Given the description of an element on the screen output the (x, y) to click on. 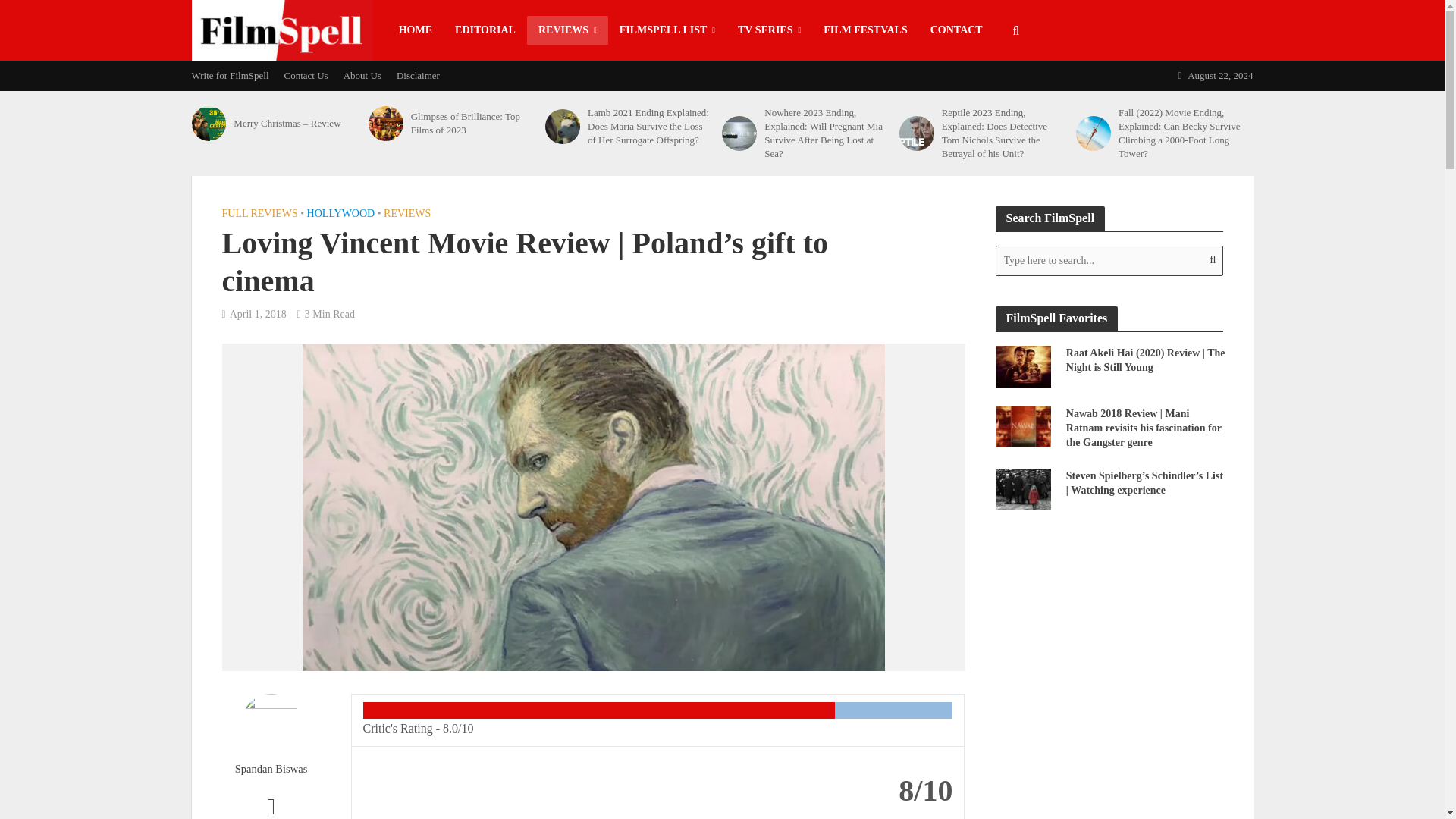
CONTACT (956, 30)
FILMSPELL LIST (667, 30)
EDITORIAL (485, 30)
Glimpses of Brilliance: Top Films of 2023 (472, 123)
Write for FilmSpell (233, 75)
Contact Us (306, 75)
TV SERIES (769, 30)
Glimpses of Brilliance: Top Films of 2023 (385, 123)
